Given the description of an element on the screen output the (x, y) to click on. 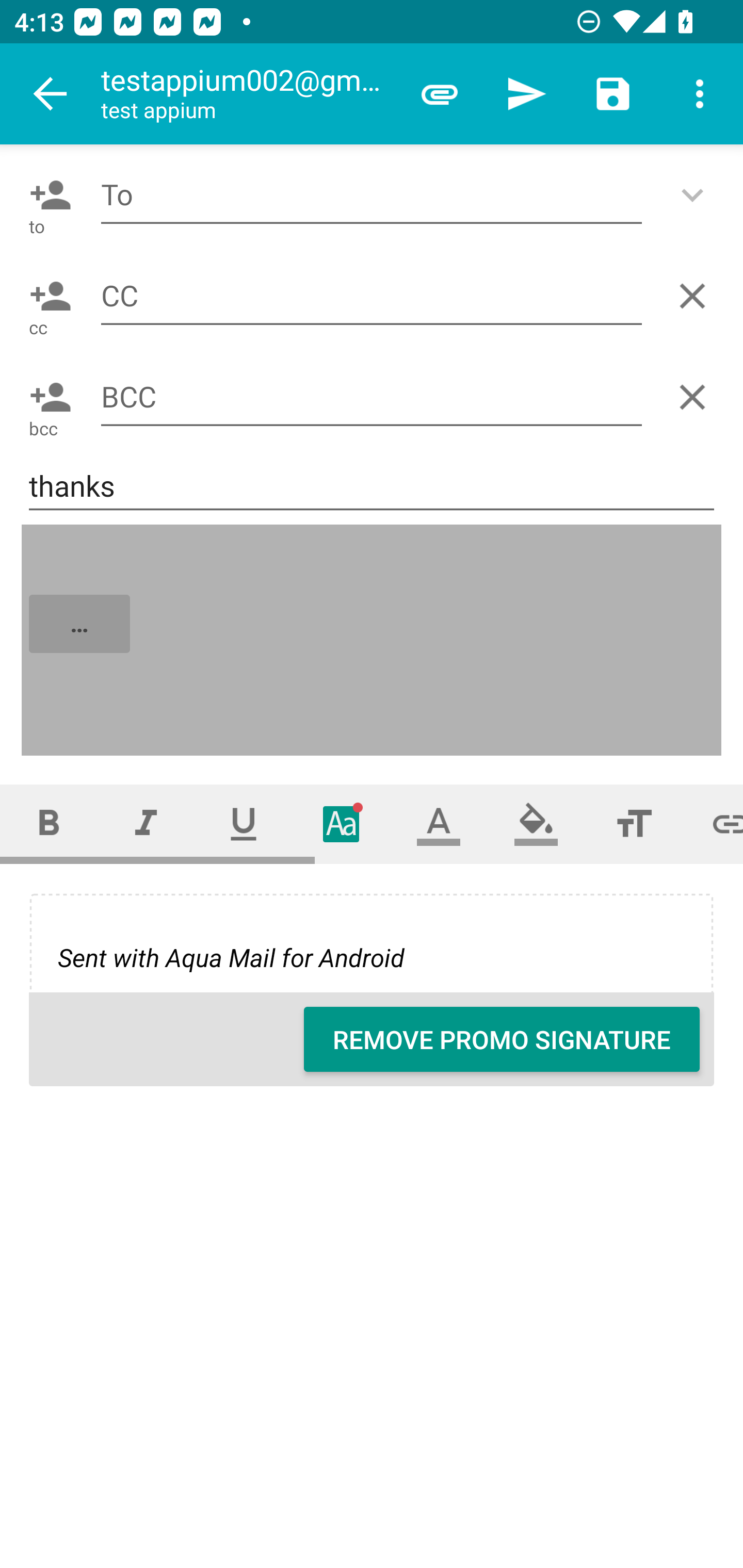
Navigate up (50, 93)
testappium002@gmail.com test appium (248, 93)
Attach (439, 93)
Send (525, 93)
Save (612, 93)
More options (699, 93)
Pick contact: To (46, 195)
Show/Add CC/BCC (696, 195)
To (371, 195)
Pick contact: CC (46, 296)
Delete (696, 296)
CC (371, 295)
Pick contact: BCC (46, 397)
Delete (696, 397)
BCC (371, 397)
thanks (371, 486)

…
 (372, 640)
Bold (48, 823)
Italic (145, 823)
Underline (243, 823)
Typeface (font) (341, 823)
Text color (438, 823)
Fill color (536, 823)
Font size (633, 823)
REMOVE PROMO SIGNATURE (501, 1039)
